Given the description of an element on the screen output the (x, y) to click on. 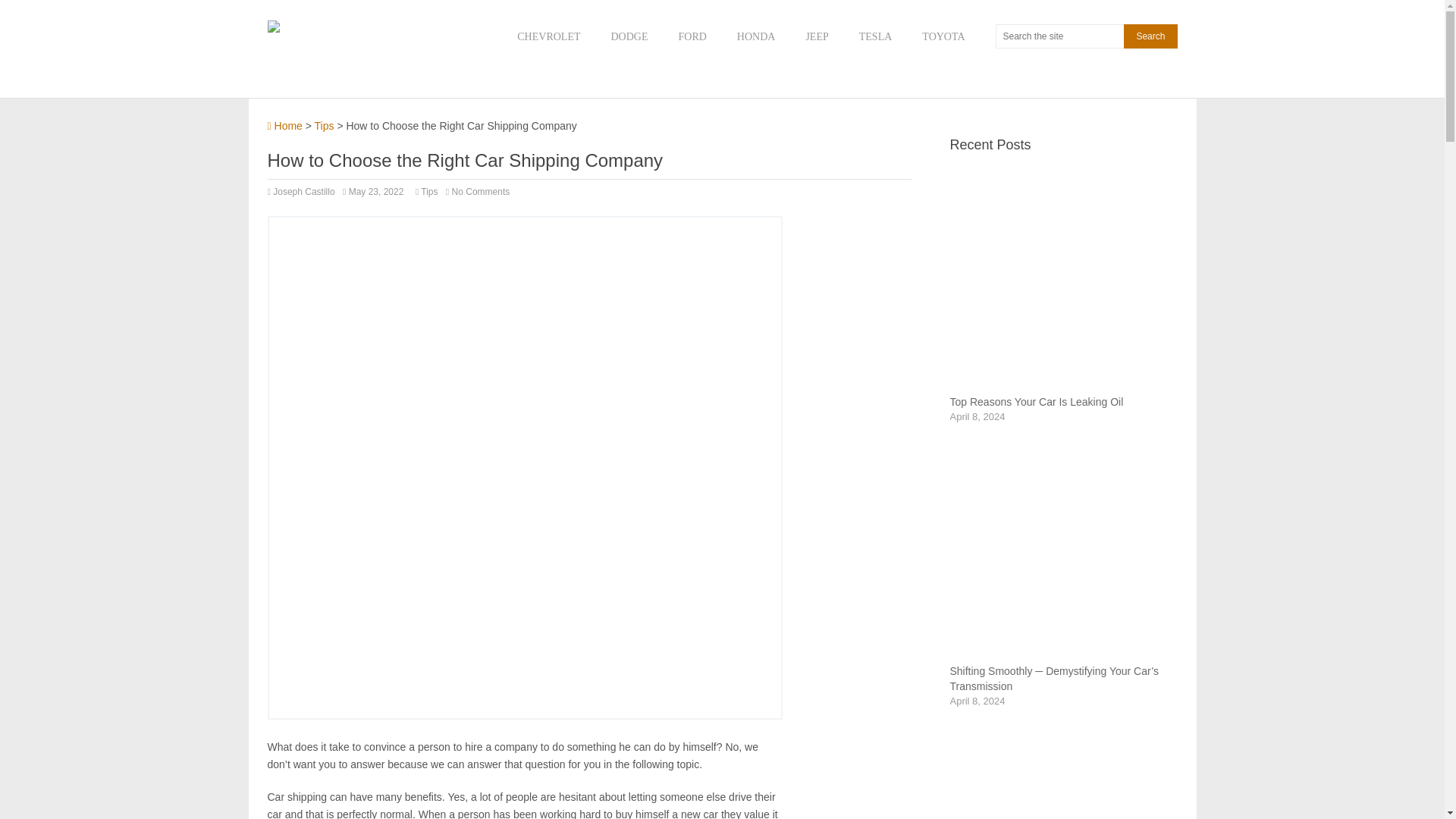
No Comments (481, 191)
Tips (324, 125)
FORD (692, 36)
Tips (429, 191)
TESLA (875, 36)
Search (1150, 36)
Search (1150, 36)
CHEVROLET (547, 36)
 Home (283, 125)
Joseph Castillo (303, 191)
